Given the description of an element on the screen output the (x, y) to click on. 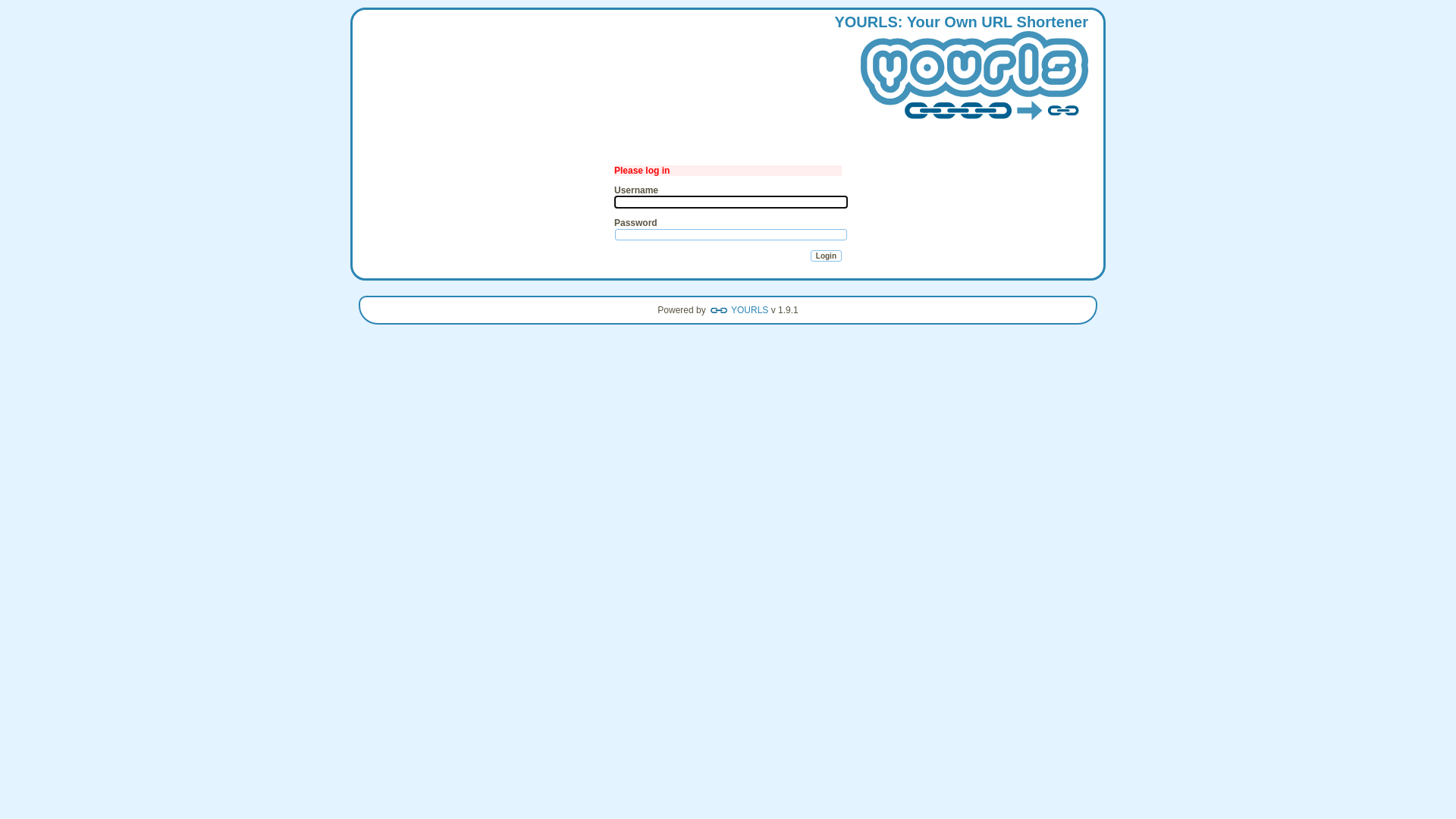
Login Element type: text (825, 255)
YOURLS Element type: hover (974, 77)
YOURLS: Your Own URL Shortener Element type: text (961, 70)
YOURLS Element type: text (738, 309)
